Given the description of an element on the screen output the (x, y) to click on. 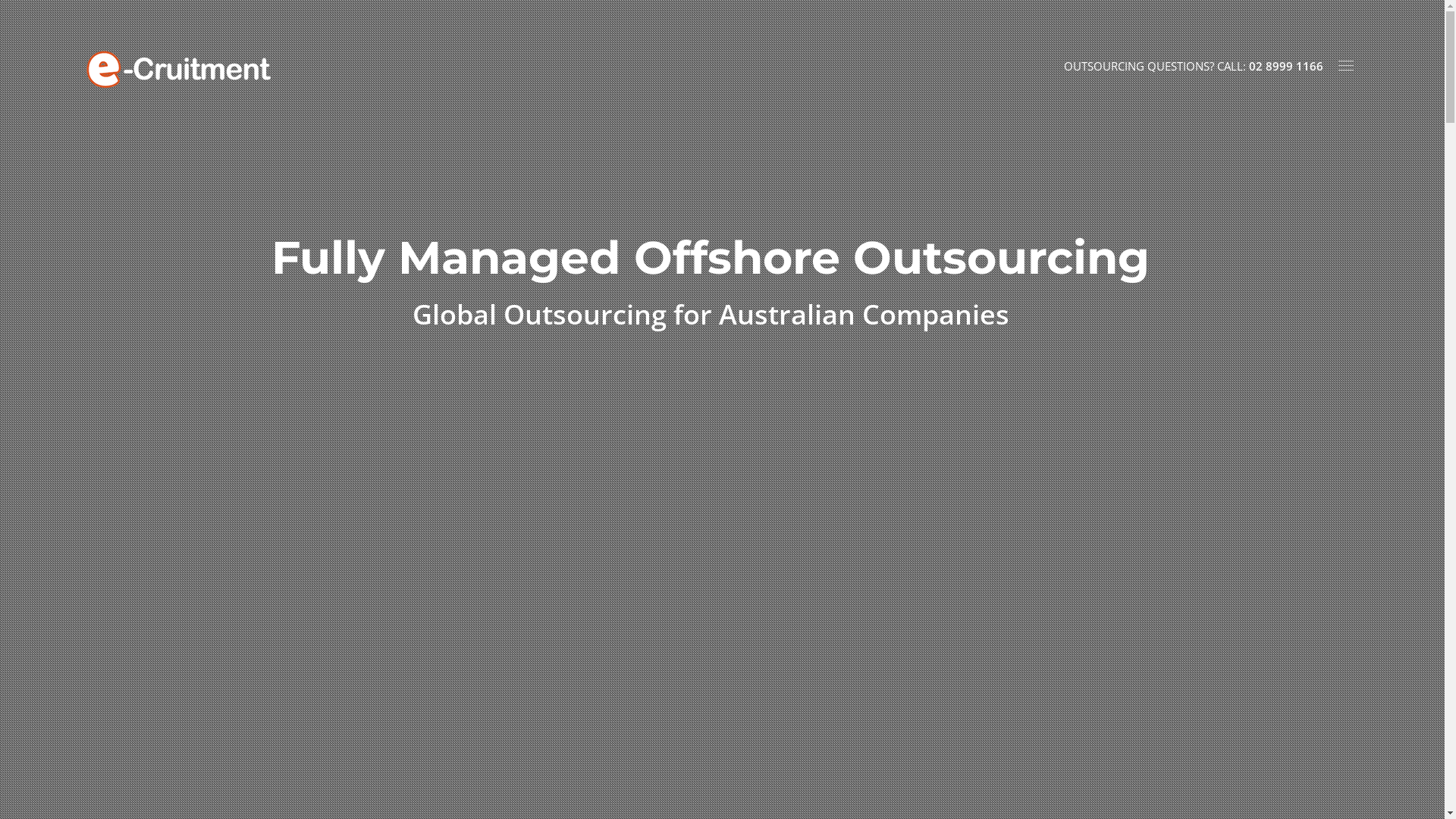
02 8999 1166 Element type: text (1285, 65)
